Given the description of an element on the screen output the (x, y) to click on. 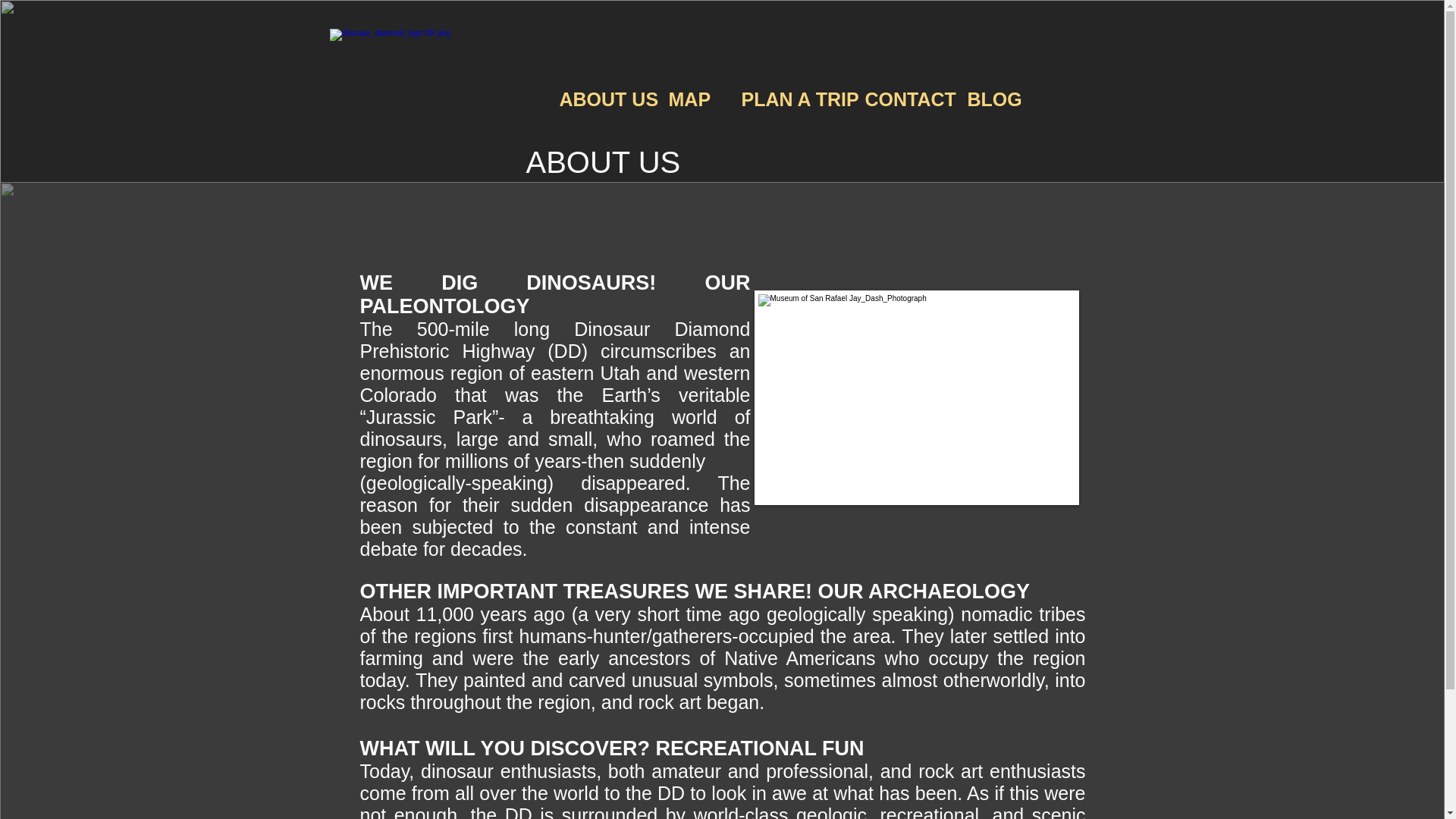
BLOG (993, 98)
PLAN A TRIP (791, 98)
ABOUT US (601, 98)
CONTACT (904, 98)
MAP (692, 98)
